Given the description of an element on the screen output the (x, y) to click on. 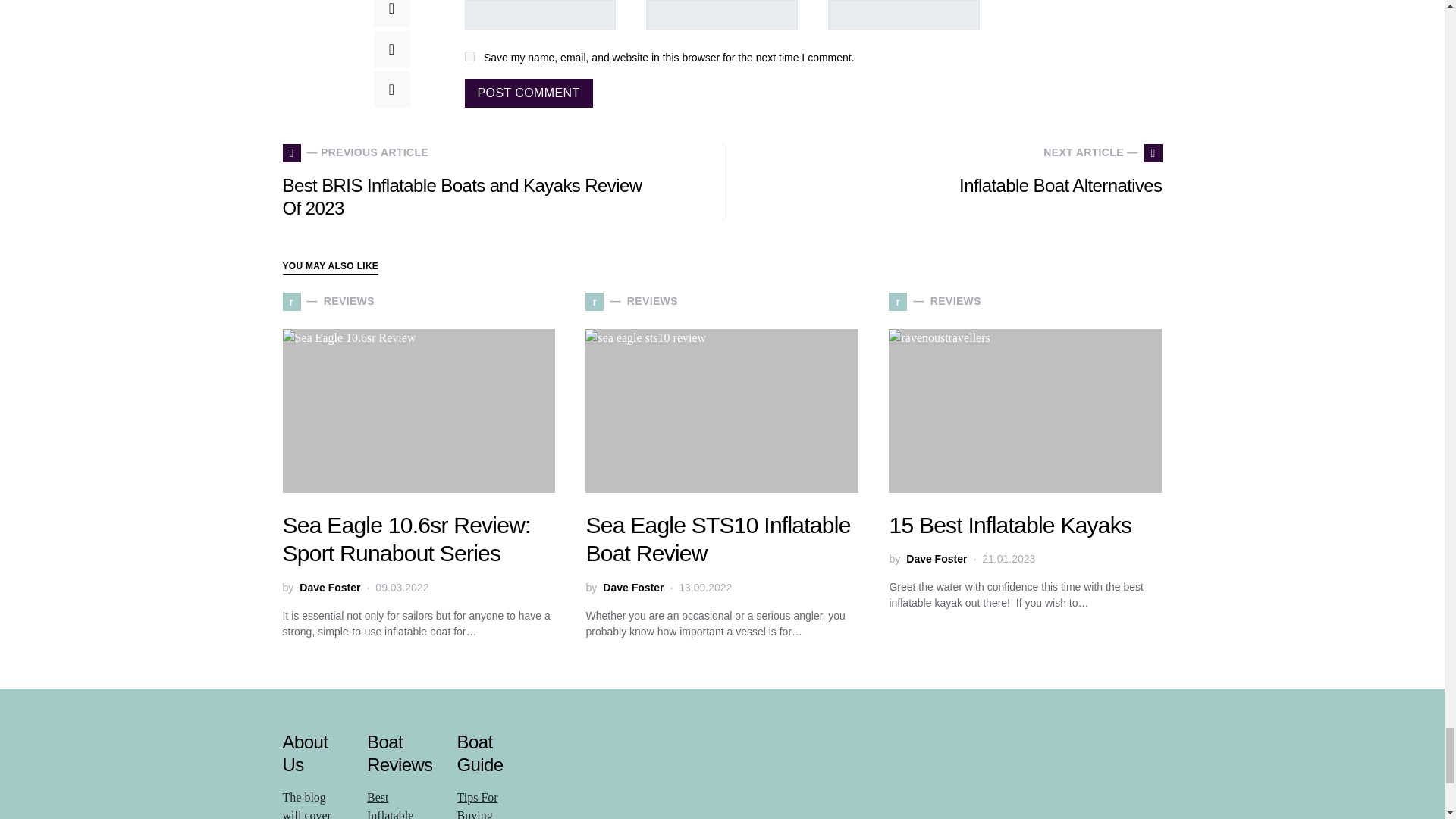
Post Comment (528, 92)
View all posts by Dave Foster (632, 587)
View all posts by Dave Foster (329, 587)
yes (469, 56)
View all posts by Dave Foster (935, 559)
